Given the description of an element on the screen output the (x, y) to click on. 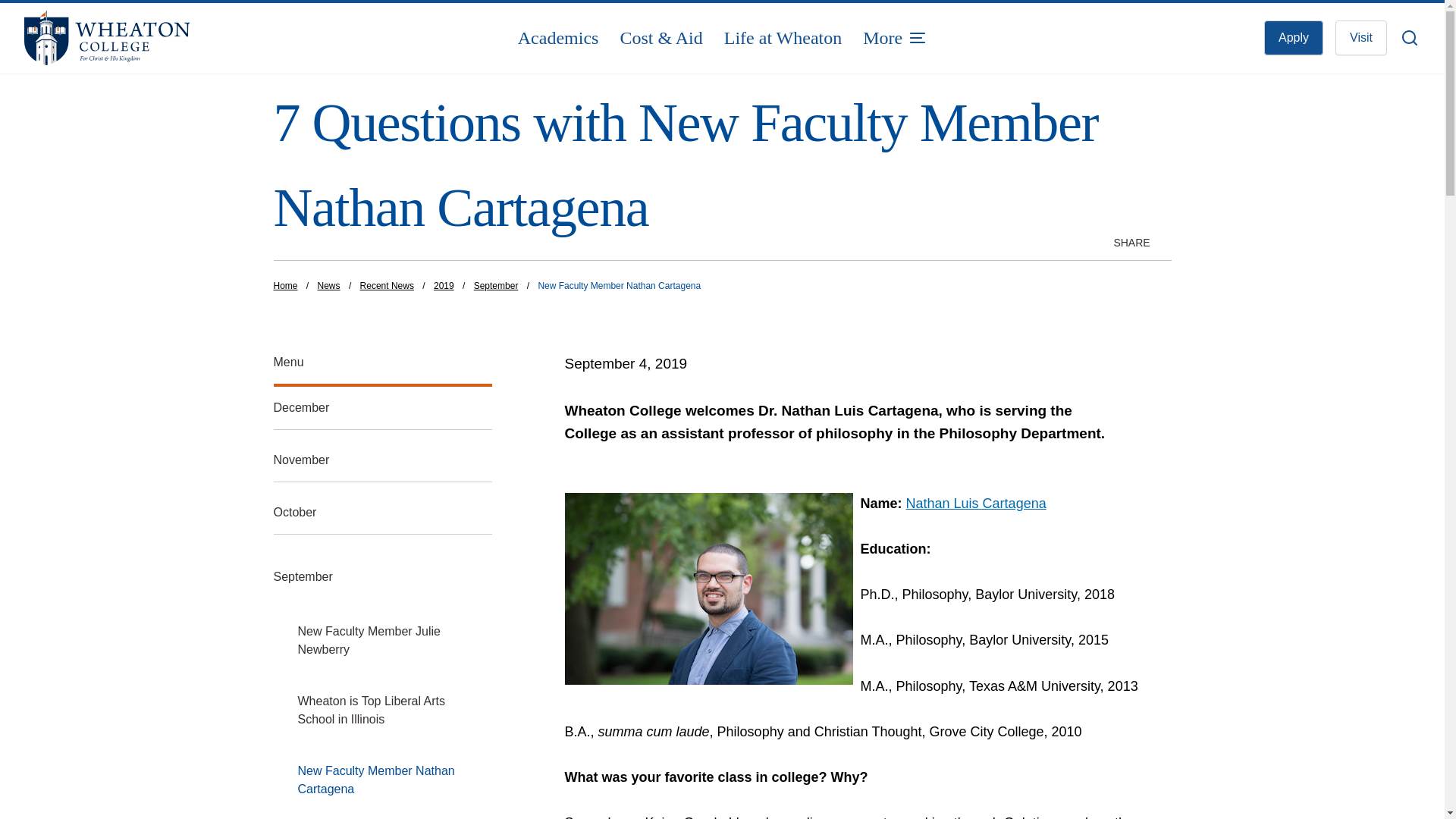
Wheaton College homepage (161, 37)
Visit (1361, 37)
Apply (1293, 37)
More (894, 37)
Life at Wheaton (782, 37)
Academics (557, 37)
